Given the description of an element on the screen output the (x, y) to click on. 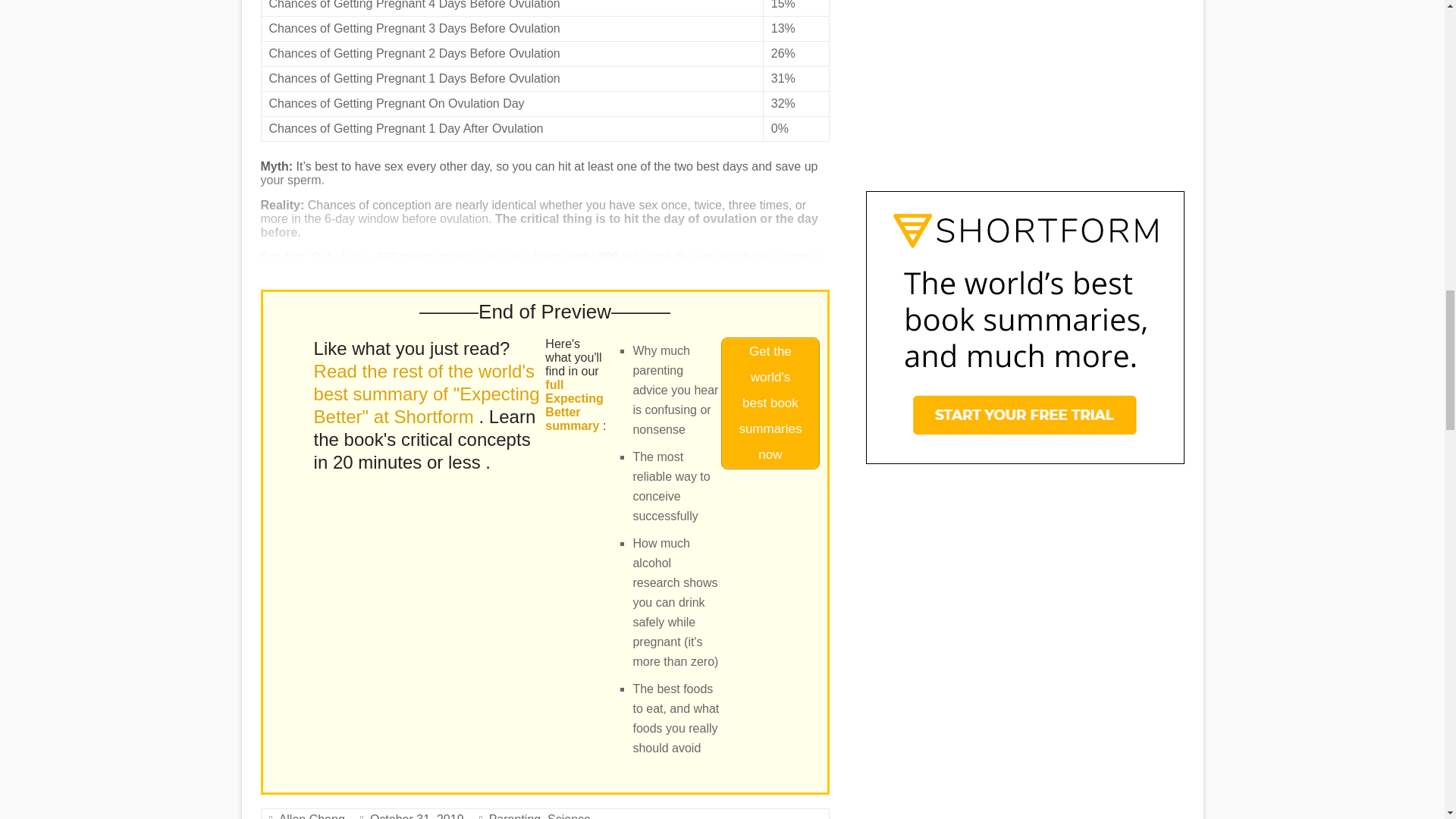
full Expecting Better summary (573, 405)
Allen Cheng (312, 816)
Science (569, 816)
11:33 pm (416, 816)
Parenting (515, 816)
October 31, 2019 (416, 816)
